Given the description of an element on the screen output the (x, y) to click on. 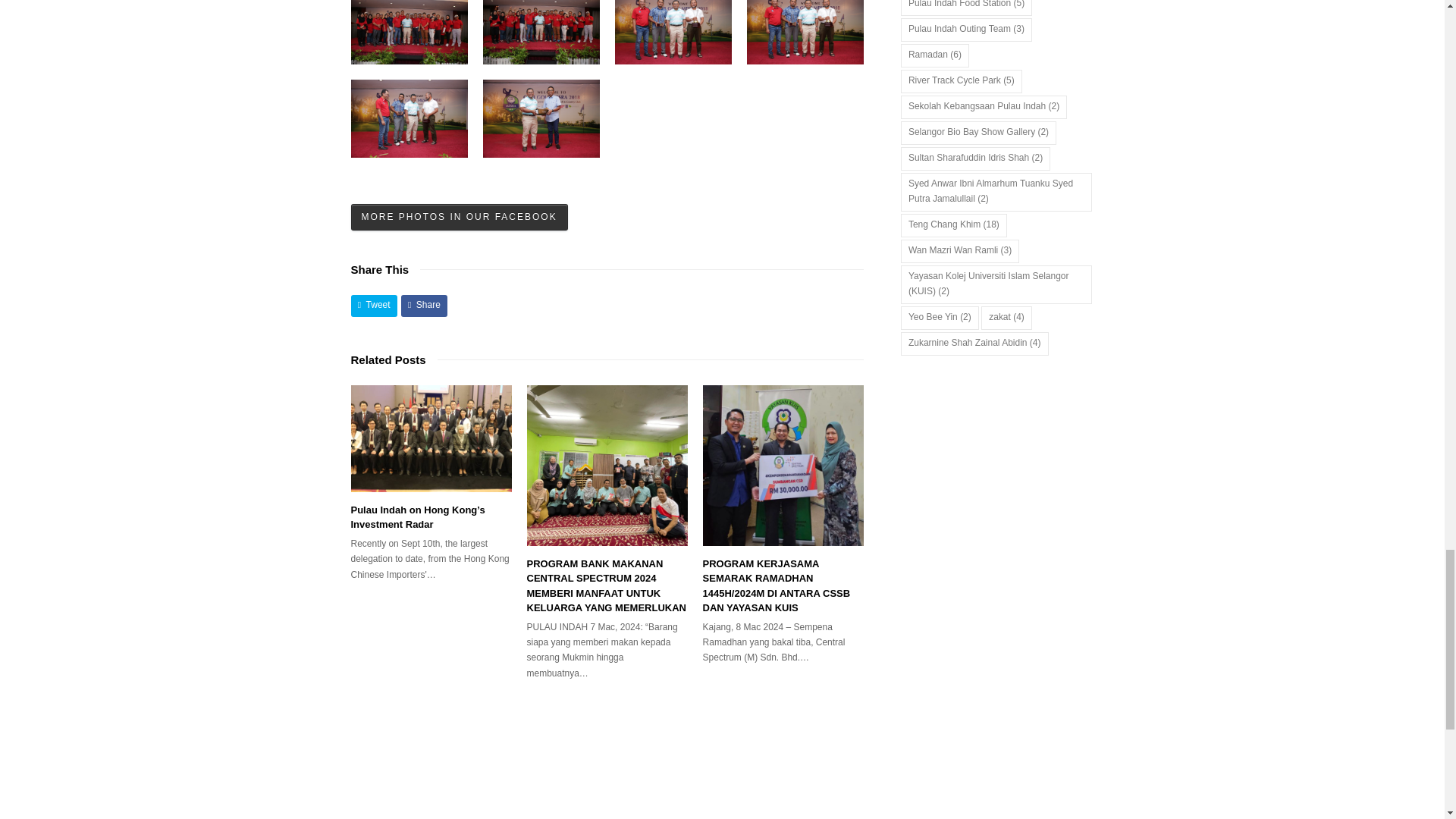
More Photos (458, 216)
